Given the description of an element on the screen output the (x, y) to click on. 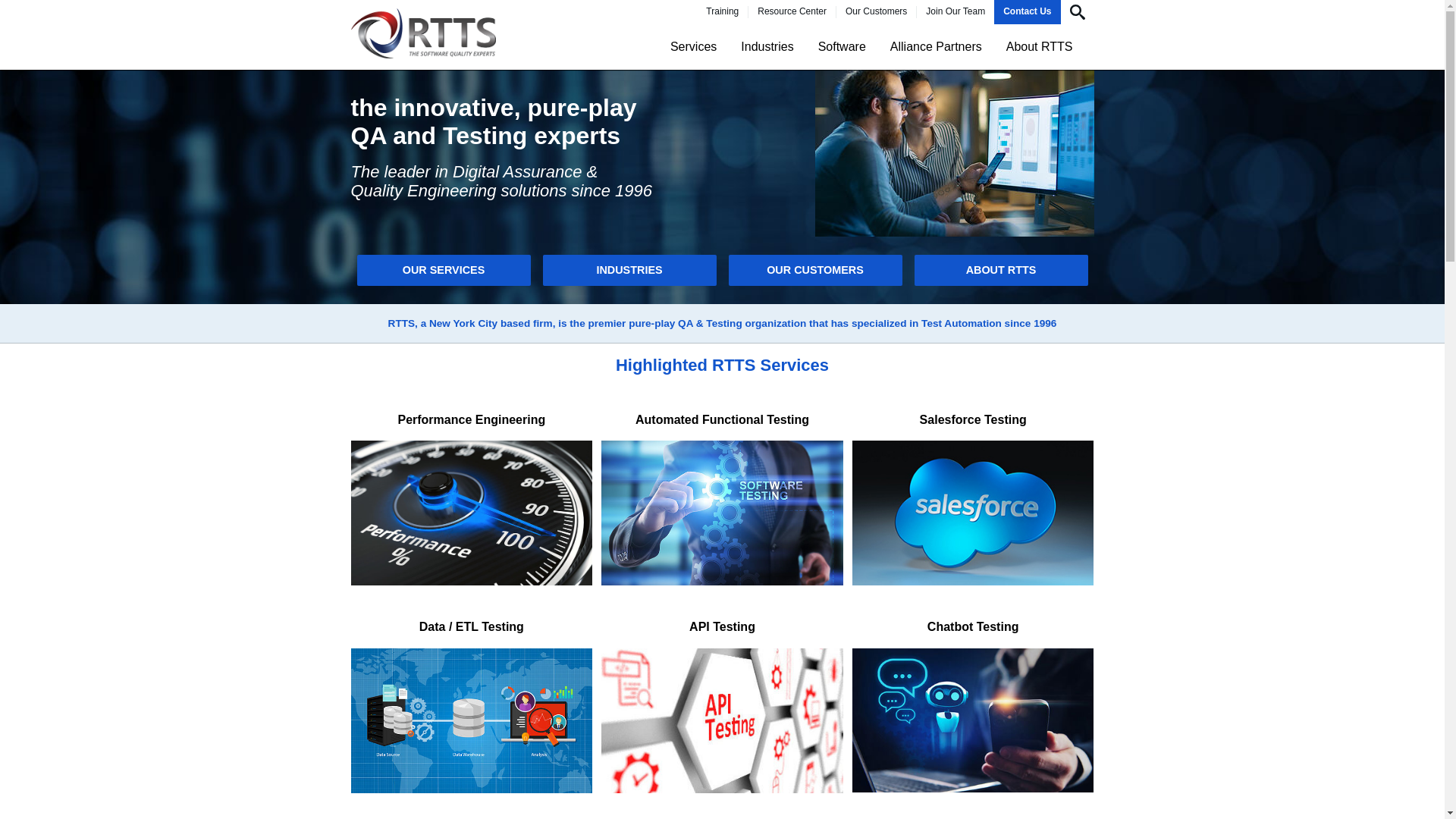
Our Customers (875, 11)
Training (722, 11)
Services (692, 46)
Contact Us (1026, 11)
Industries (767, 46)
Resource Center (791, 11)
Join Our Team (954, 11)
